Given the description of an element on the screen output the (x, y) to click on. 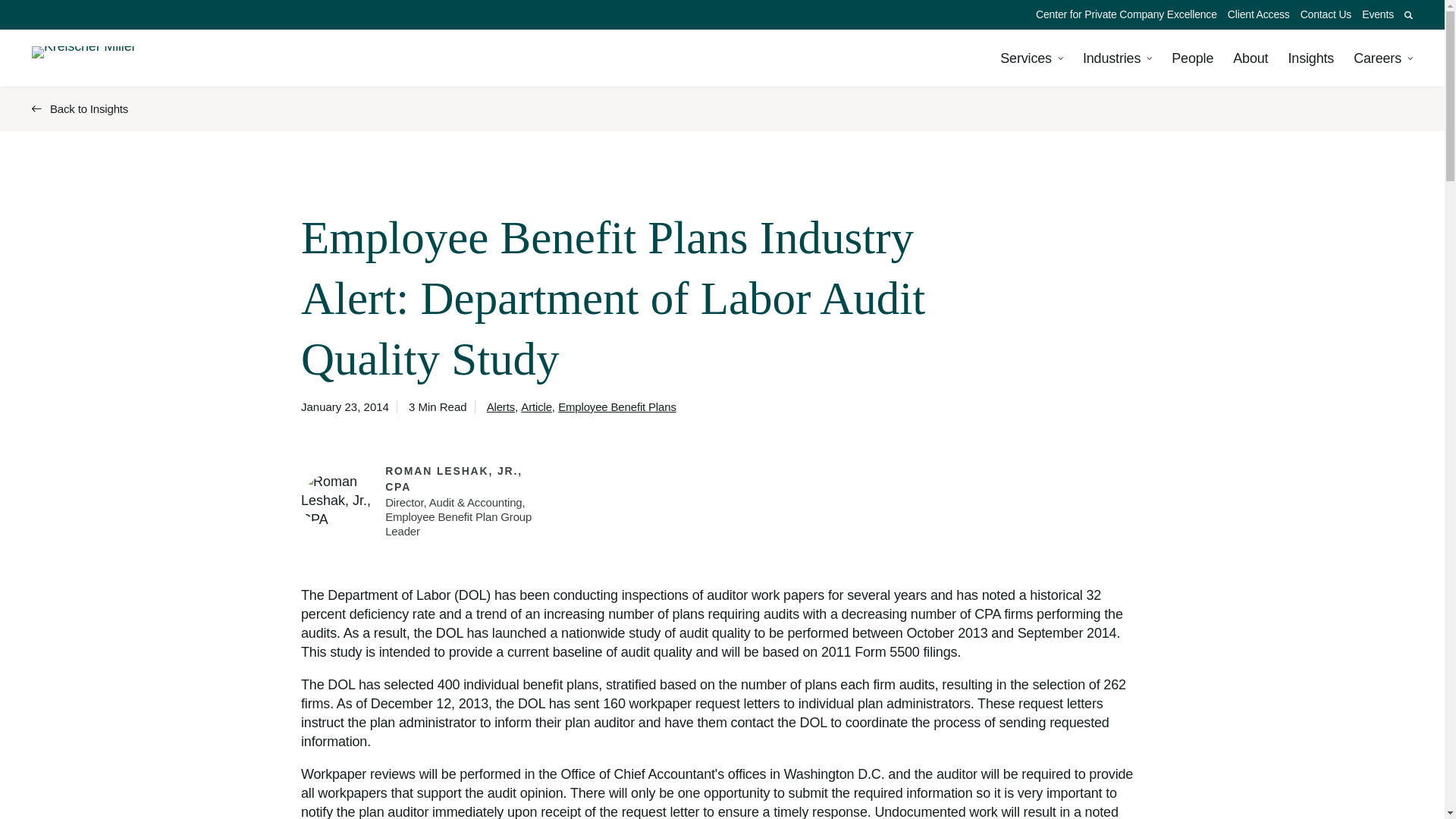
Center for Private Company Excellence (1126, 14)
Contact Us (1326, 14)
Client Access (1259, 14)
Services (1031, 58)
Events (1377, 14)
Industries (1117, 58)
